Given the description of an element on the screen output the (x, y) to click on. 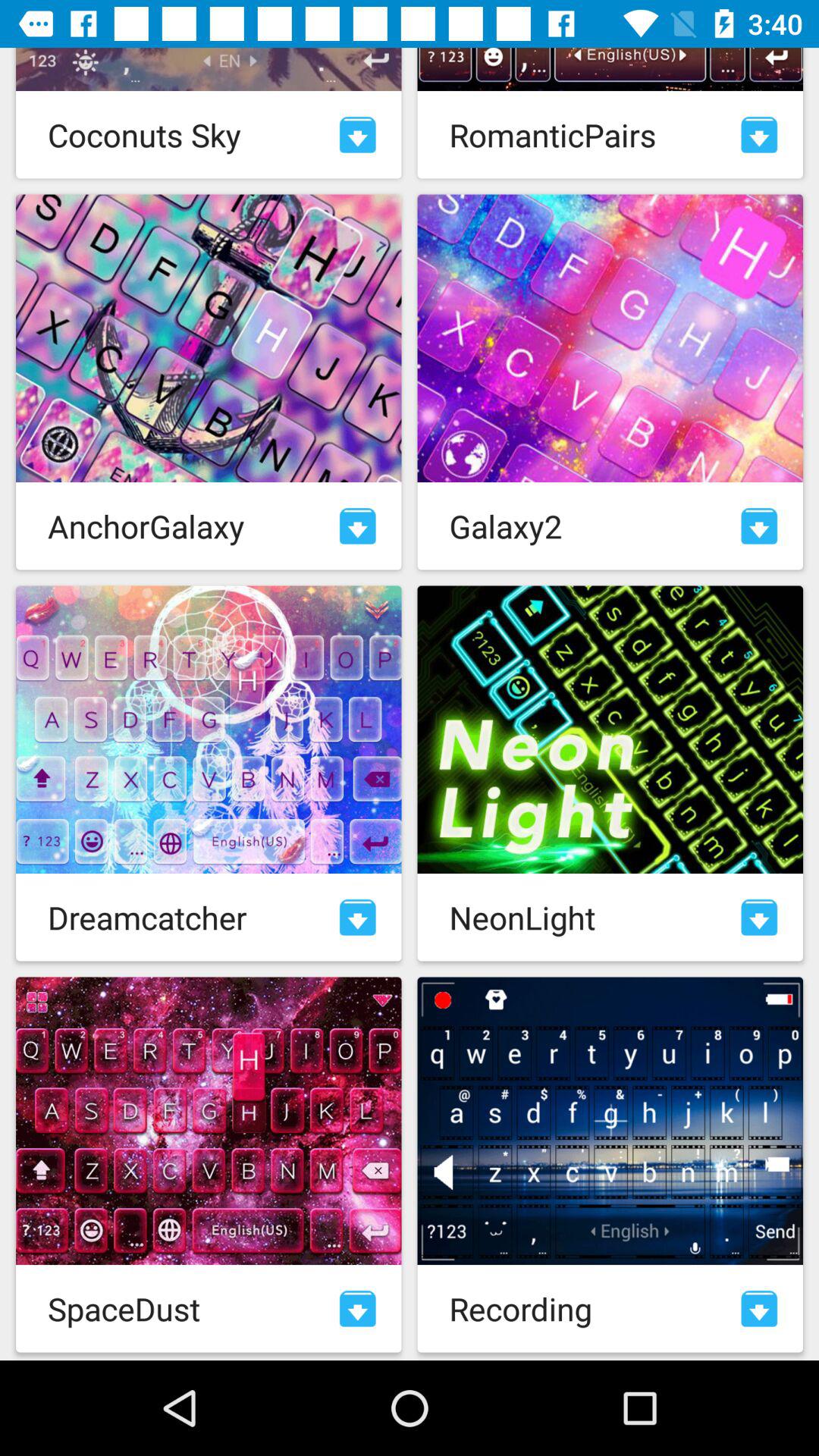
download skin (357, 134)
